Given the description of an element on the screen output the (x, y) to click on. 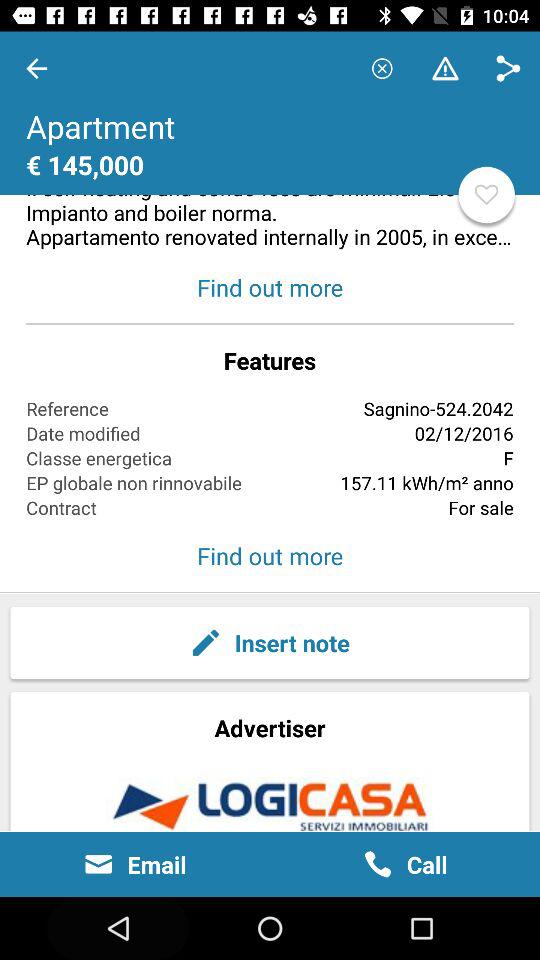
tap the item at the top left corner (36, 68)
